Given the description of an element on the screen output the (x, y) to click on. 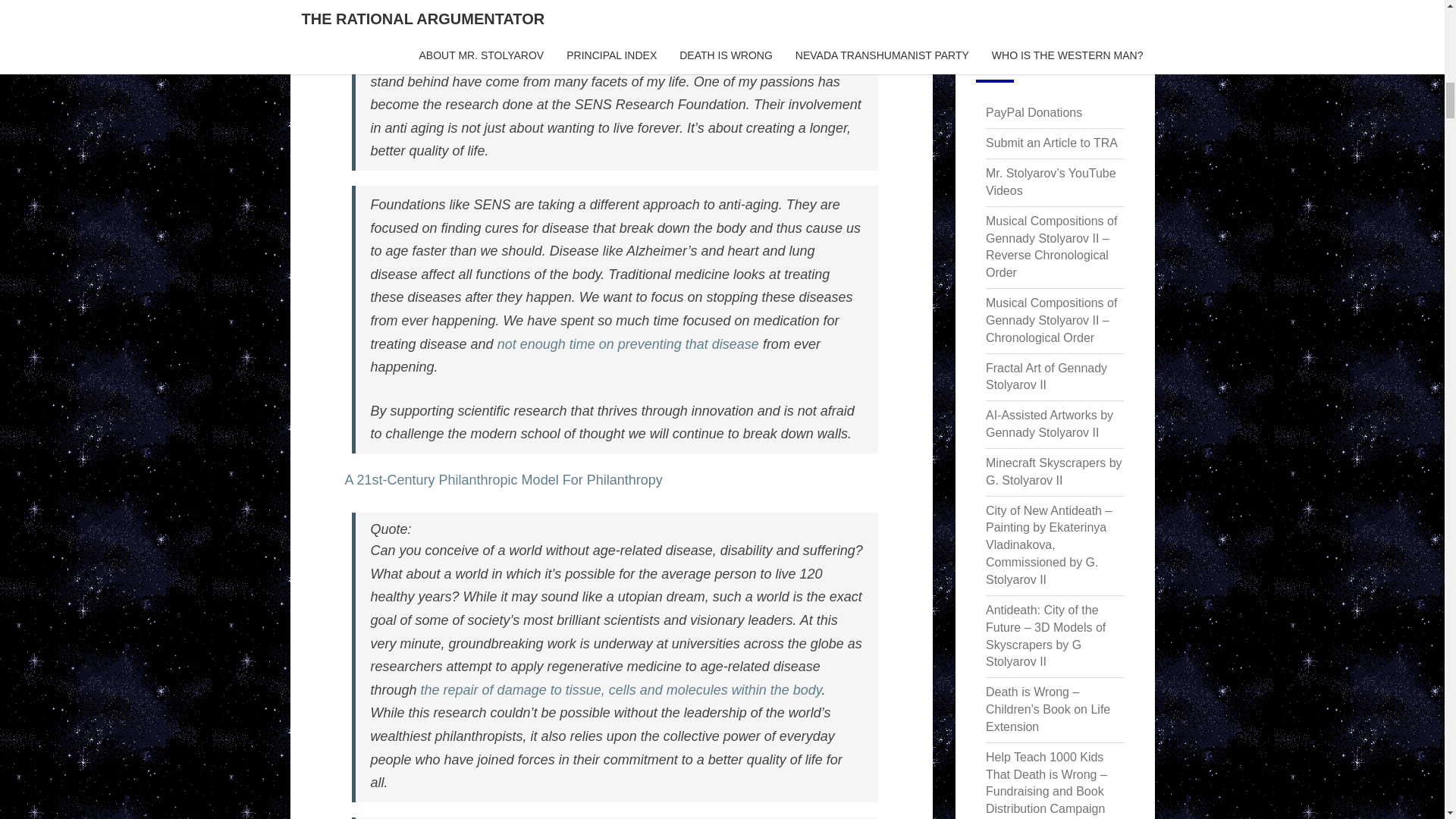
A 21st-Century Philanthropic Model For Philanthropy (502, 479)
not enough time on preventing that disease (627, 344)
